Given the description of an element on the screen output the (x, y) to click on. 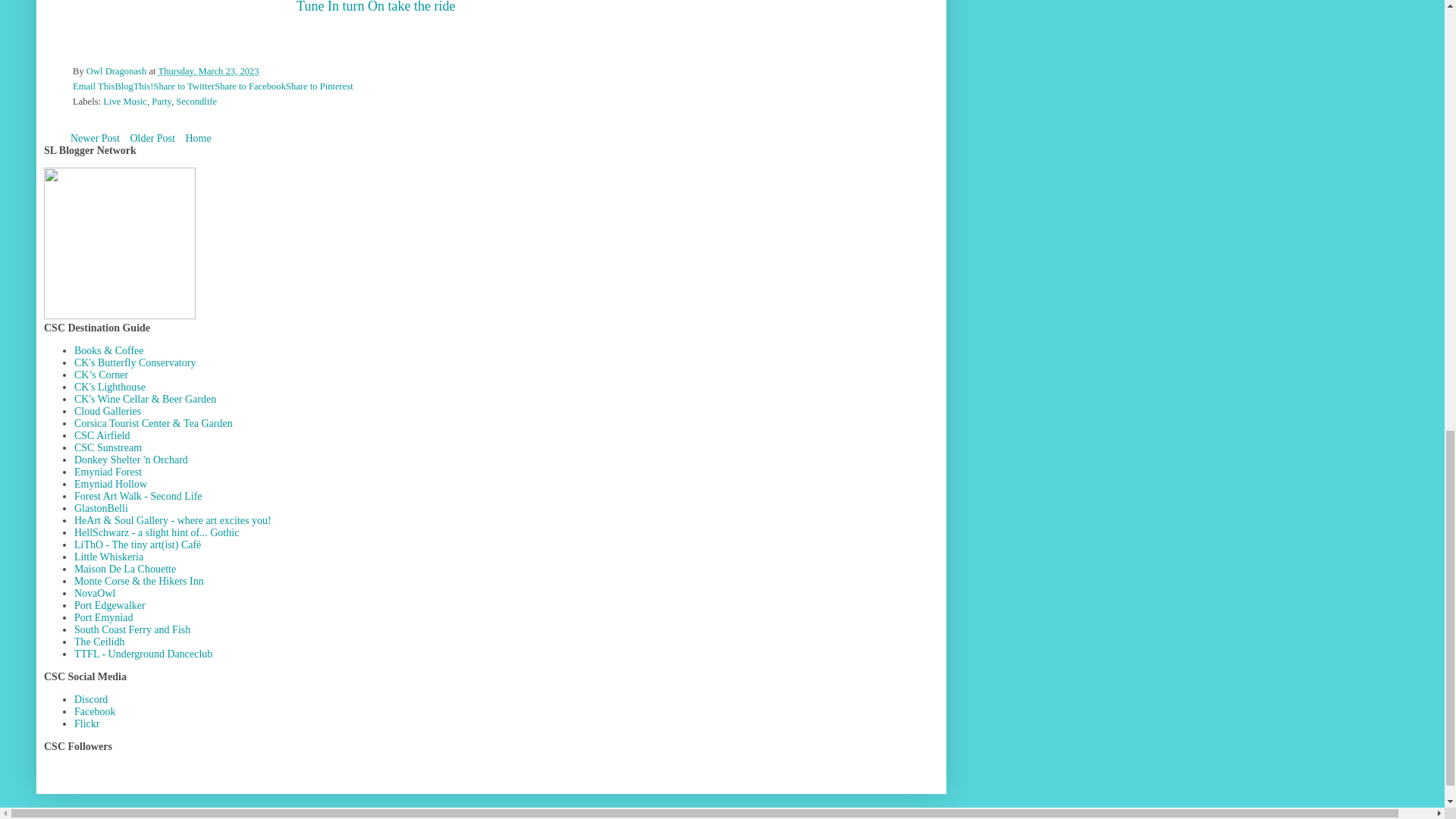
Newer Post (94, 138)
Cloud Galleries (107, 410)
Older Post (152, 138)
Secondlife (196, 101)
Email This (93, 86)
Email This (93, 86)
Thursday, March 23, 2023 (208, 71)
Emyniad Forest (107, 471)
author profile (117, 71)
Older Post (152, 138)
